Given the description of an element on the screen output the (x, y) to click on. 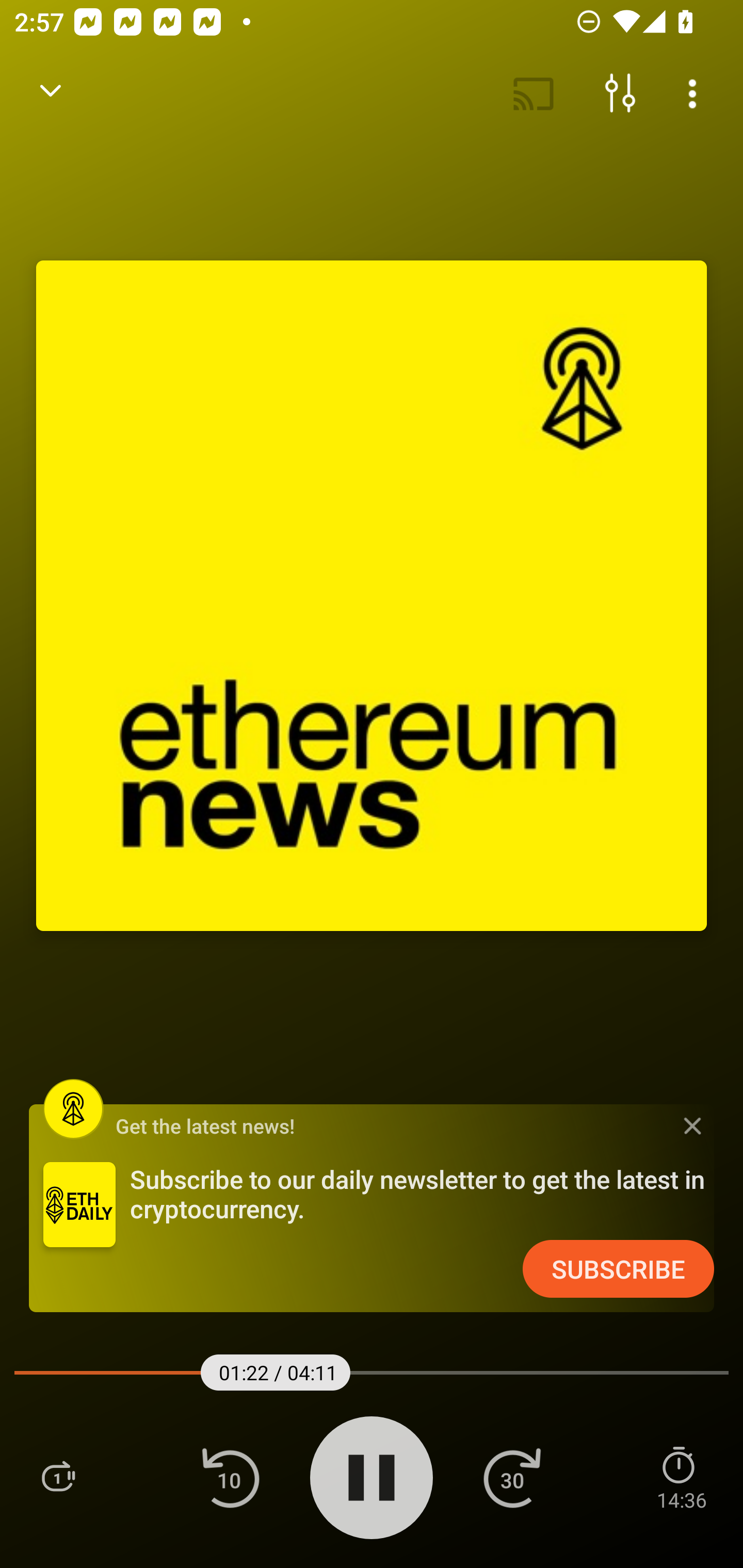
Cast. Disconnected (533, 93)
 Back (50, 94)
SUBSCRIBE (618, 1269)
Sleep Timer  14:36 (681, 1477)
 Playlist (57, 1477)
